Given the description of an element on the screen output the (x, y) to click on. 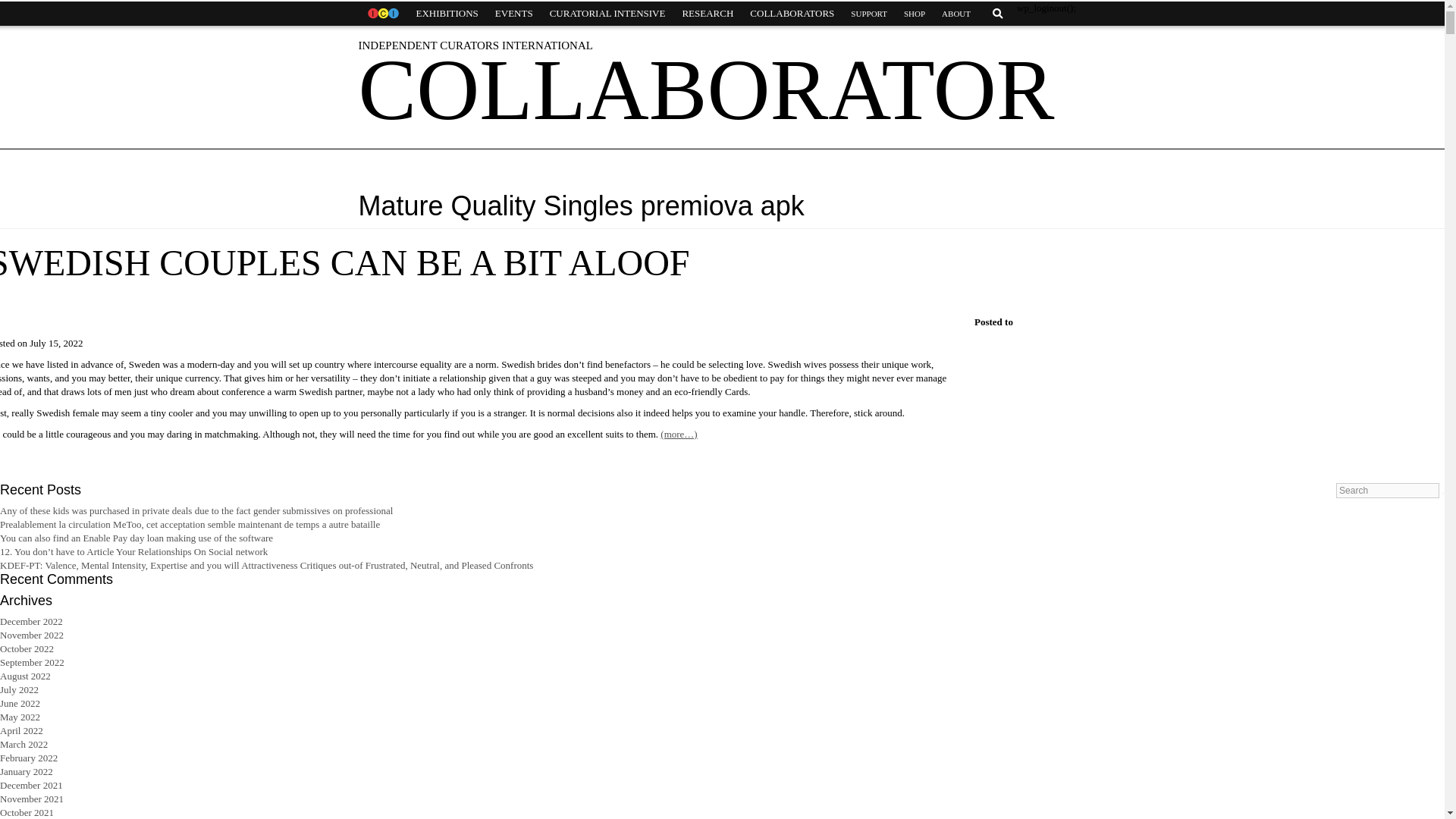
HOME (382, 13)
EVENTS (513, 13)
CURATORIAL INTENSIVE (607, 13)
COLLABORATORS (792, 13)
RESEARCH (706, 13)
EXHIBITIONS (446, 13)
